Given the description of an element on the screen output the (x, y) to click on. 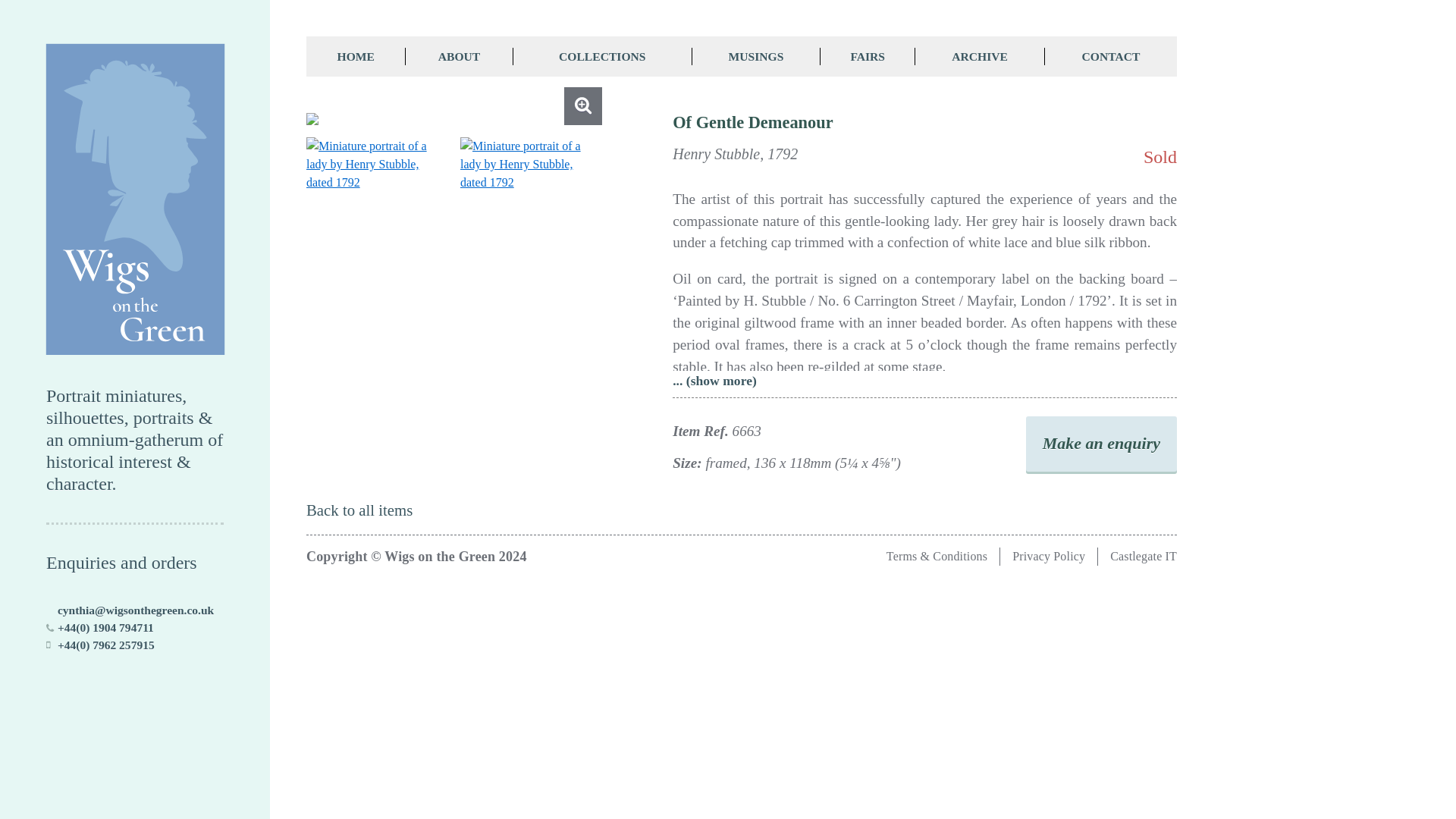
ABOUT (459, 56)
HOME (355, 56)
Back to all items (358, 509)
FAIRS (868, 56)
ARCHIVE (980, 56)
Privacy Policy (1047, 555)
Of Gentle Demeanour (453, 119)
Castlegate IT (1142, 555)
CONTACT (1110, 56)
Make an enquiry (1101, 444)
